Given the description of an element on the screen output the (x, y) to click on. 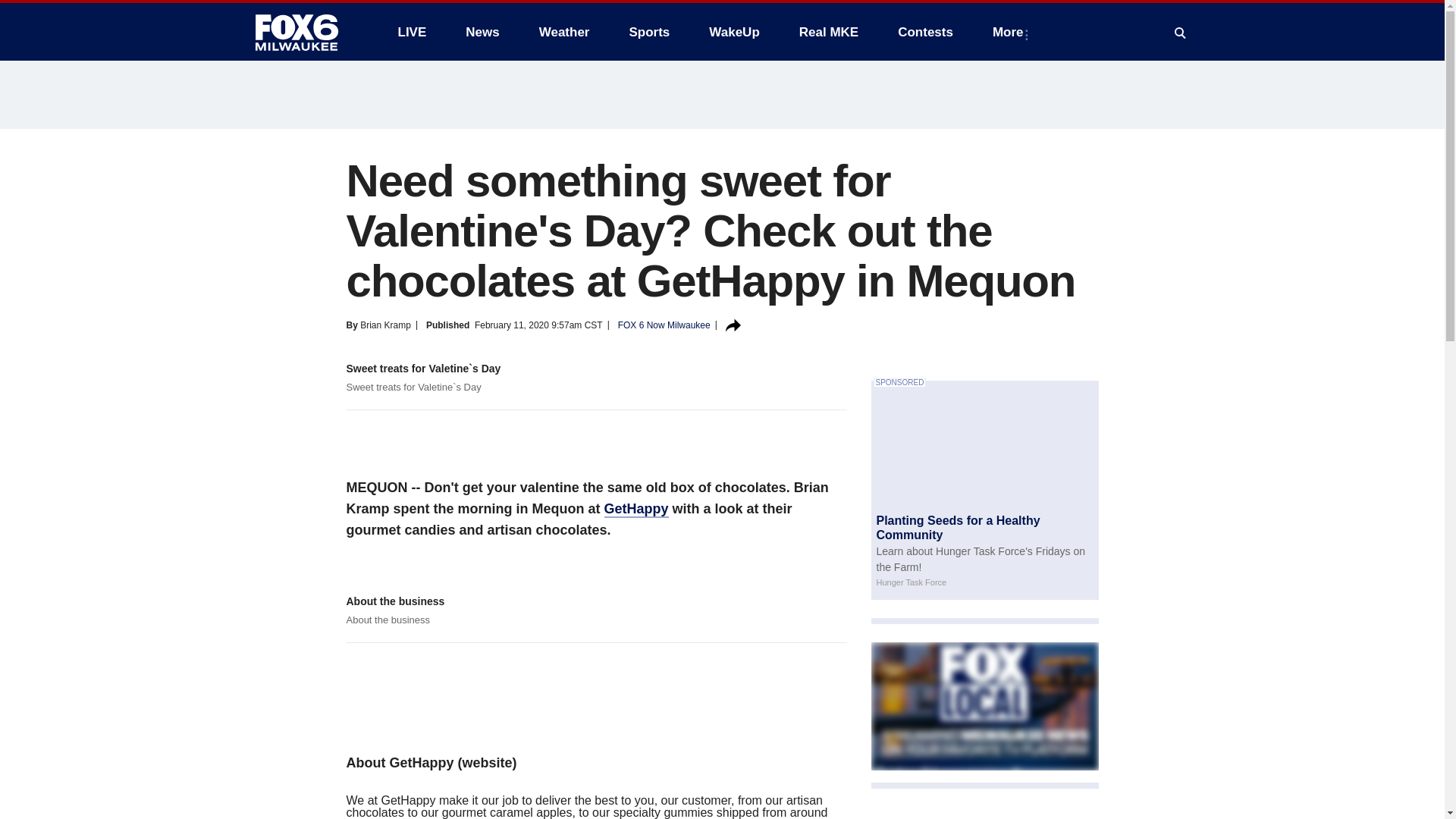
Weather (564, 32)
More (1010, 32)
WakeUp (734, 32)
Real MKE (828, 32)
LIVE (411, 32)
Contests (925, 32)
Sports (648, 32)
News (481, 32)
